Given the description of an element on the screen output the (x, y) to click on. 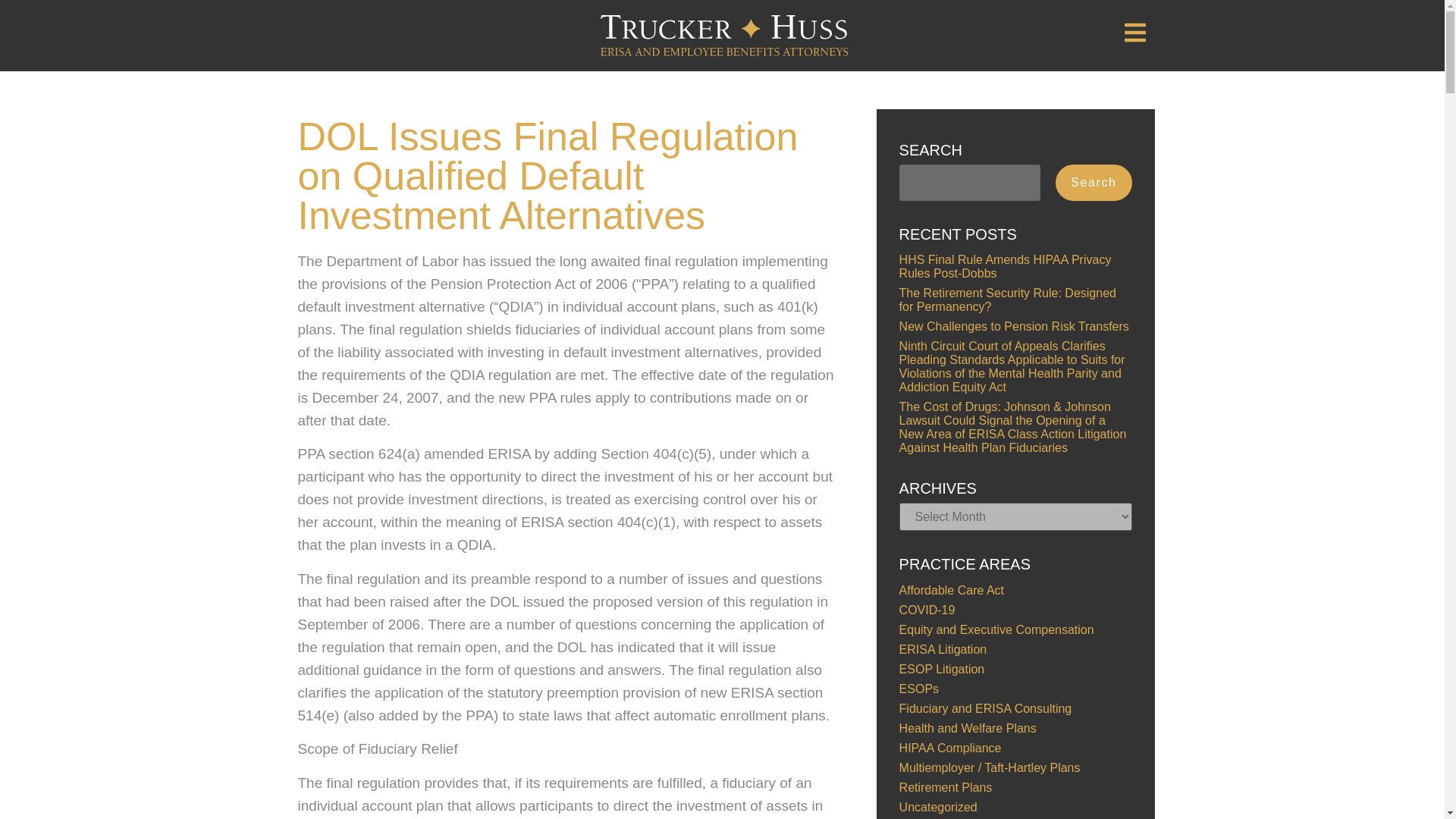
Affordable Care Act (951, 590)
HHS Final Rule Amends HIPAA Privacy Rules Post-Dobbs (1005, 266)
Health and Welfare Plans (967, 727)
ESOP Litigation (942, 668)
Uncategorized (937, 807)
ESOPs (919, 688)
Search (1093, 182)
COVID-19 (927, 609)
New Challenges to Pension Risk Transfers (1014, 326)
